Given the description of an element on the screen output the (x, y) to click on. 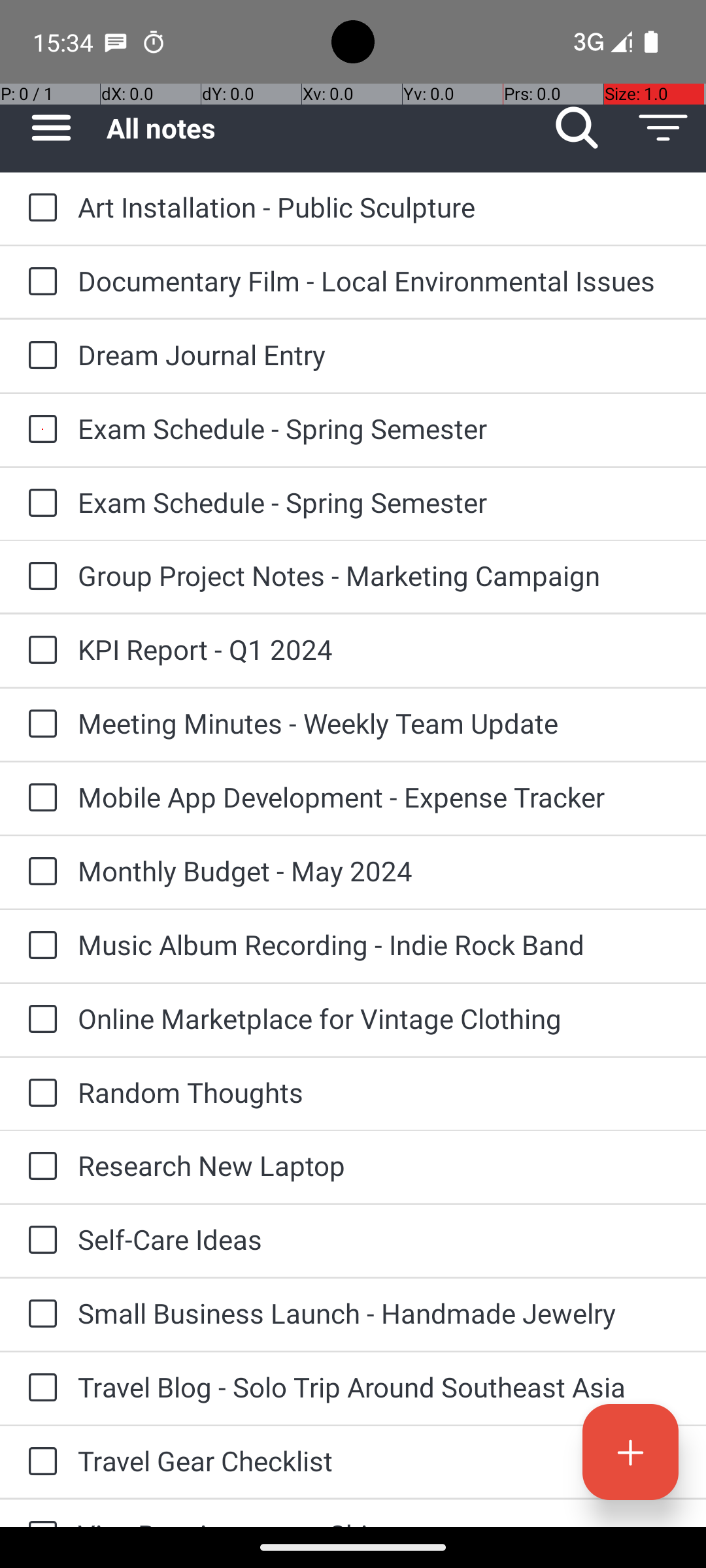
to-do: Art Installation - Public Sculpture Element type: android.widget.CheckBox (38, 208)
Art Installation - Public Sculpture Element type: android.widget.TextView (378, 206)
to-do: Documentary Film - Local Environmental Issues Element type: android.widget.CheckBox (38, 282)
Documentary Film - Local Environmental Issues Element type: android.widget.TextView (378, 280)
to-do: Dream Journal Entry Element type: android.widget.CheckBox (38, 356)
Dream Journal Entry Element type: android.widget.TextView (378, 354)
to-do: Exam Schedule - Spring Semester Element type: android.widget.CheckBox (38, 429)
Exam Schedule - Spring Semester Element type: android.widget.TextView (378, 427)
to-do: KPI Report - Q1 2024 Element type: android.widget.CheckBox (38, 650)
KPI Report - Q1 2024 Element type: android.widget.TextView (378, 648)
to-do: Meeting Minutes - Weekly Team Update Element type: android.widget.CheckBox (38, 724)
Meeting Minutes - Weekly Team Update Element type: android.widget.TextView (378, 722)
to-do: Mobile App Development - Expense Tracker Element type: android.widget.CheckBox (38, 798)
Mobile App Development - Expense Tracker Element type: android.widget.TextView (378, 796)
to-do: Monthly Budget - May 2024 Element type: android.widget.CheckBox (38, 872)
Monthly Budget - May 2024 Element type: android.widget.TextView (378, 870)
to-do: Music Album Recording - Indie Rock Band Element type: android.widget.CheckBox (38, 945)
Music Album Recording - Indie Rock Band Element type: android.widget.TextView (378, 944)
to-do: Random Thoughts Element type: android.widget.CheckBox (38, 1093)
Random Thoughts Element type: android.widget.TextView (378, 1091)
to-do: Research New Laptop Element type: android.widget.CheckBox (38, 1166)
Research New Laptop Element type: android.widget.TextView (378, 1164)
to-do: Self-Care Ideas Element type: android.widget.CheckBox (38, 1240)
Self-Care Ideas Element type: android.widget.TextView (378, 1238)
to-do: Small Business Launch - Handmade Jewelry Element type: android.widget.CheckBox (38, 1314)
Small Business Launch - Handmade Jewelry Element type: android.widget.TextView (378, 1312)
to-do: Travel Blog - Solo Trip Around Southeast Asia Element type: android.widget.CheckBox (38, 1388)
Travel Blog - Solo Trip Around Southeast Asia Element type: android.widget.TextView (378, 1386)
to-do: Travel Gear Checklist Element type: android.widget.CheckBox (38, 1462)
Travel Gear Checklist Element type: android.widget.TextView (378, 1460)
to-do: Visa Requirements - China Element type: android.widget.CheckBox (38, 1513)
Visa Requirements - China Element type: android.widget.TextView (378, 1520)
